Given the description of an element on the screen output the (x, y) to click on. 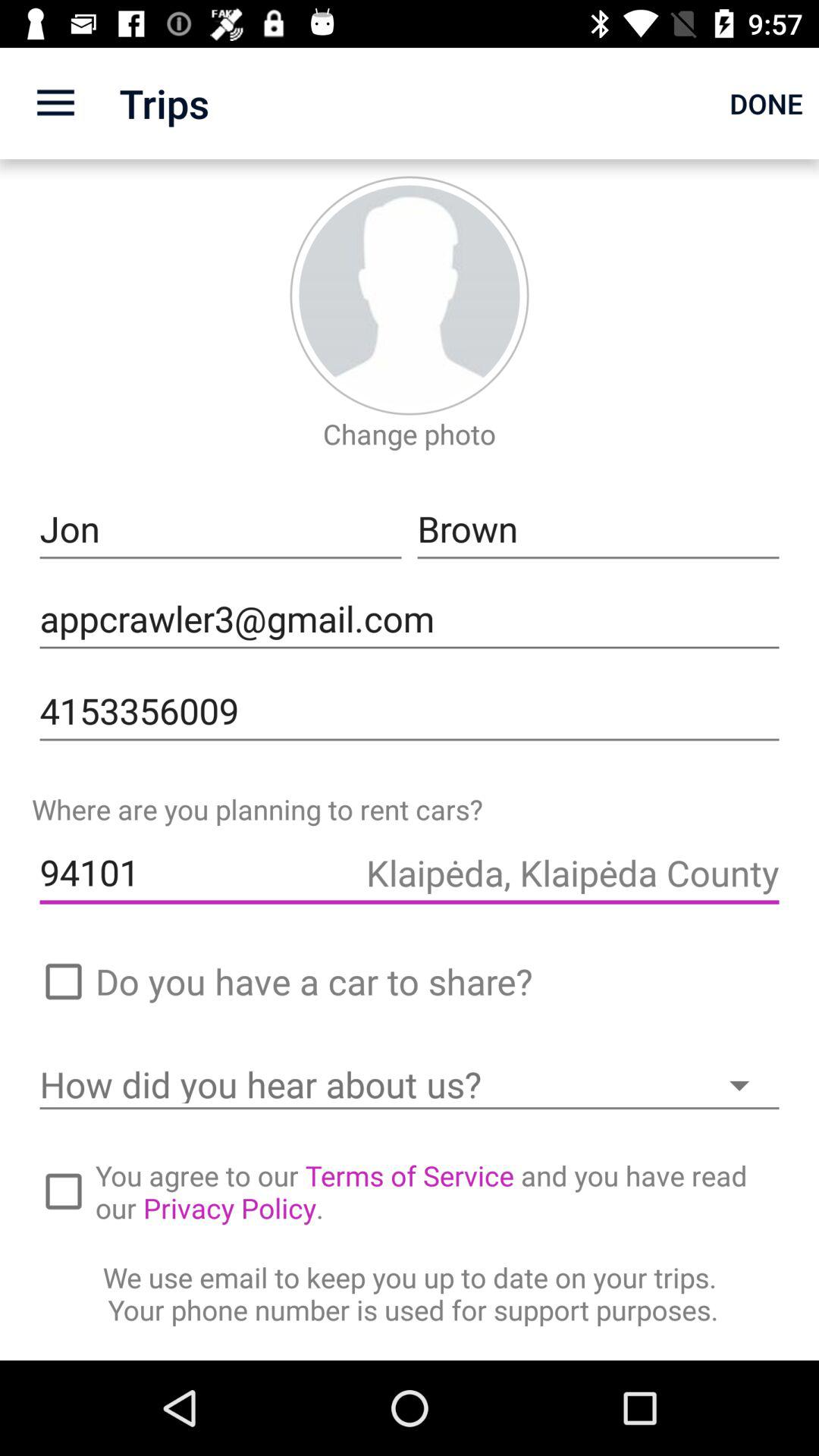
tap done at the top right corner (766, 103)
